Given the description of an element on the screen output the (x, y) to click on. 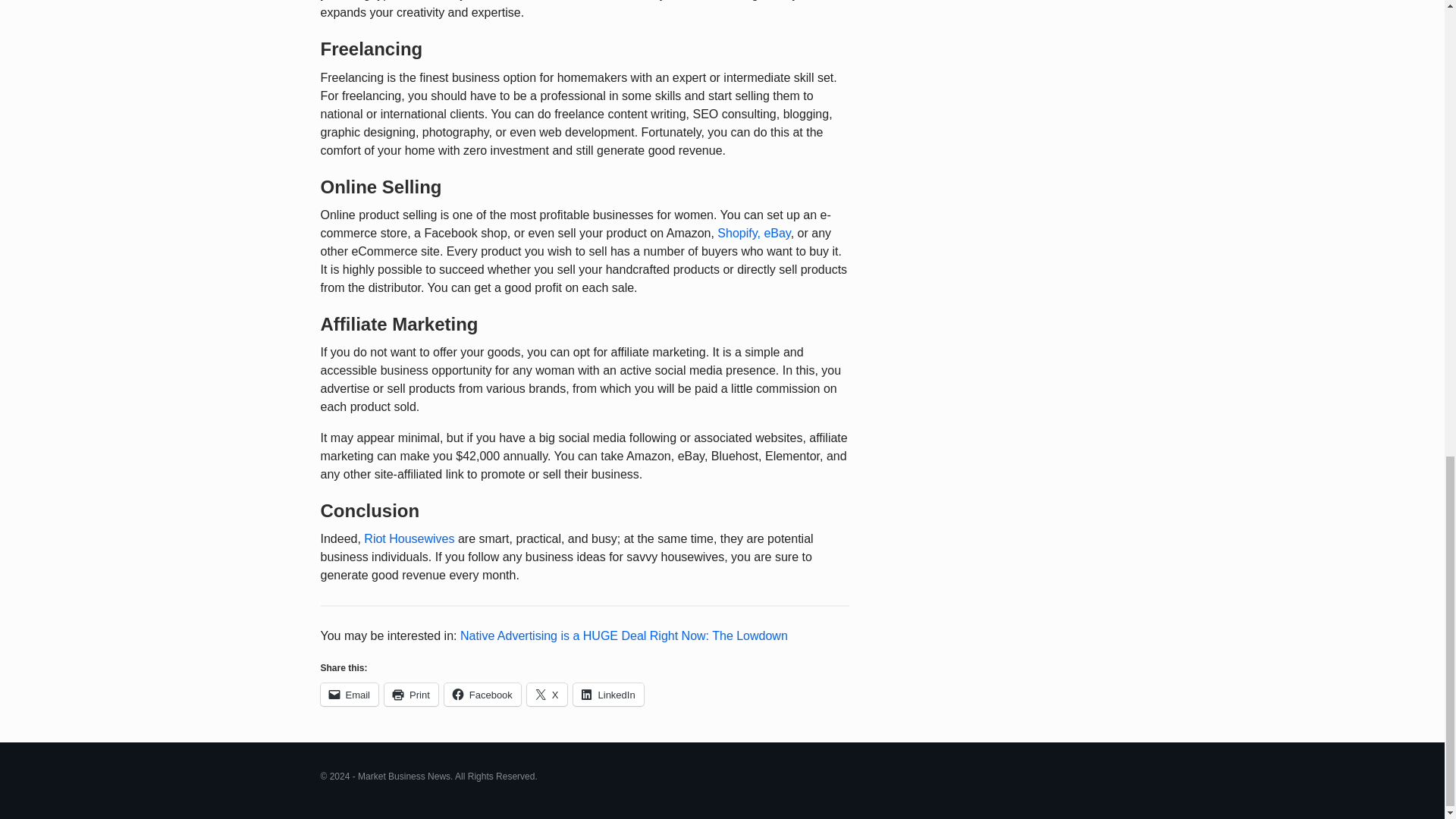
Click to print (411, 694)
Shopify, eBay (753, 232)
Click to email a link to a friend (349, 694)
Click to share on X (547, 694)
Native Advertising is a HUGE Deal Right Now: The Lowdown (623, 635)
X (547, 694)
Print (411, 694)
Riot Housewives (411, 538)
Facebook (482, 694)
Email (349, 694)
